Given the description of an element on the screen output the (x, y) to click on. 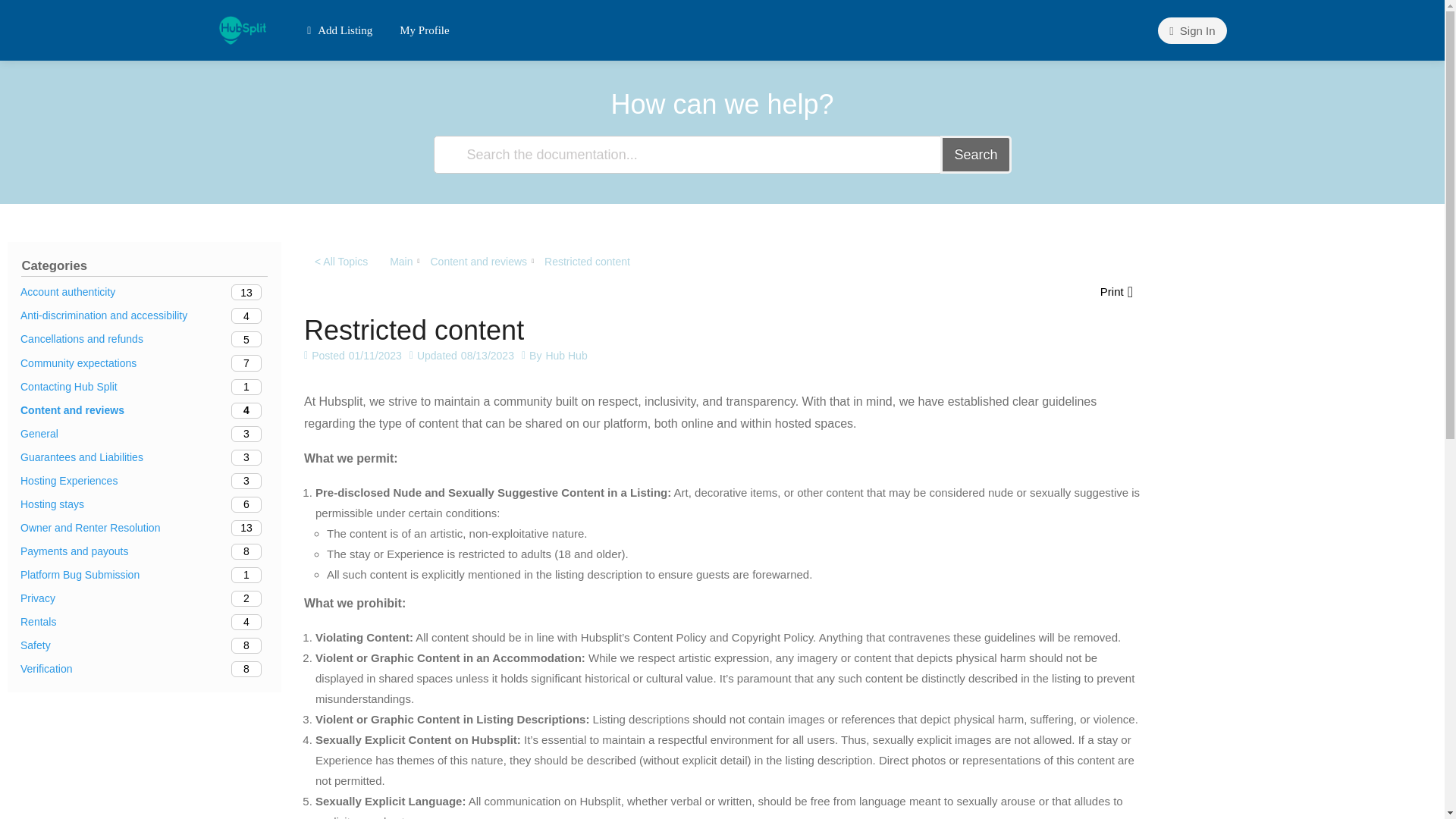
My Profile (143, 386)
Search (143, 292)
Sign In (424, 30)
Main (143, 621)
